Given the description of an element on the screen output the (x, y) to click on. 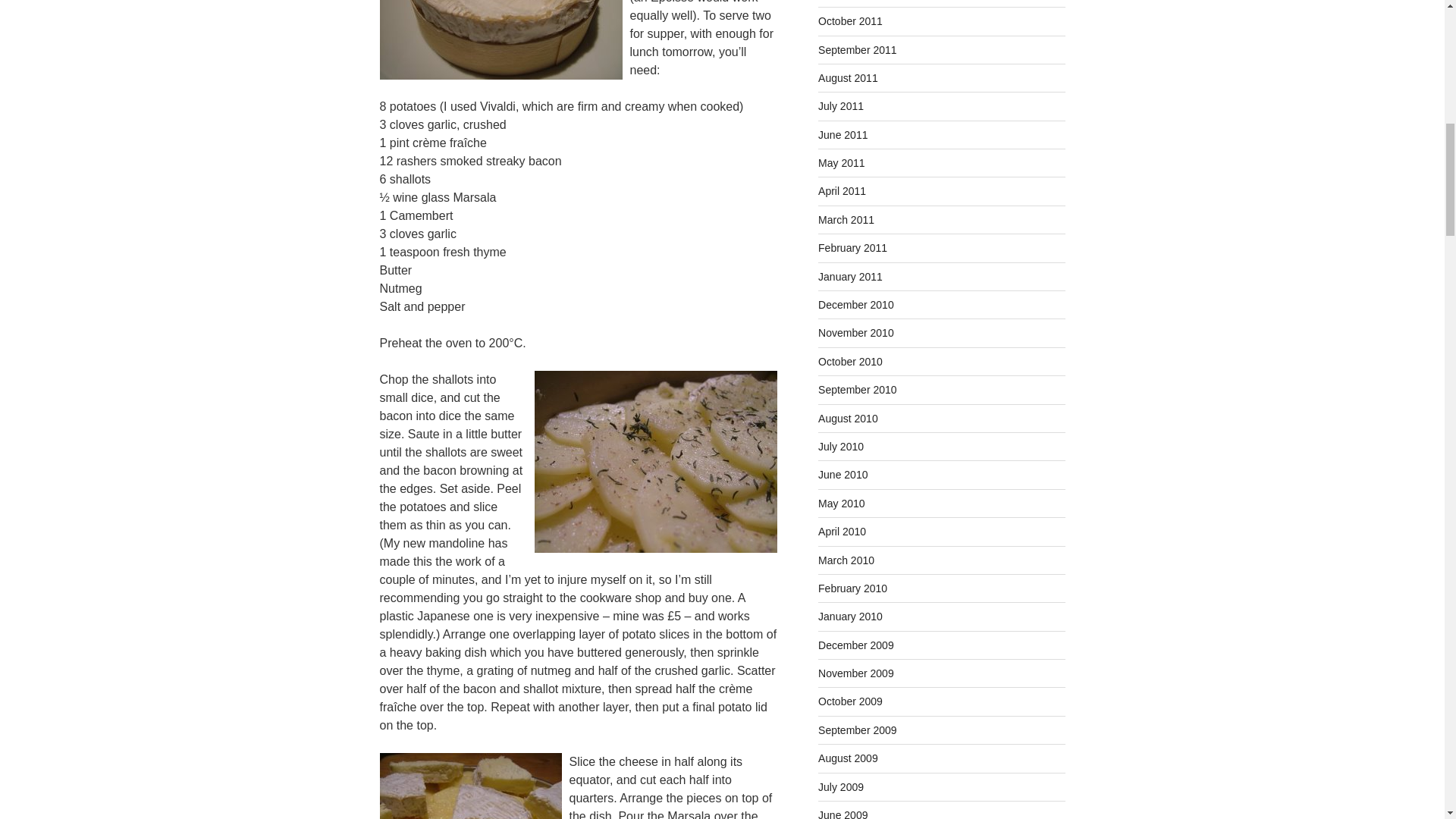
October 2011 (850, 21)
August 2011 (847, 78)
September 2011 (857, 50)
